Given the description of an element on the screen output the (x, y) to click on. 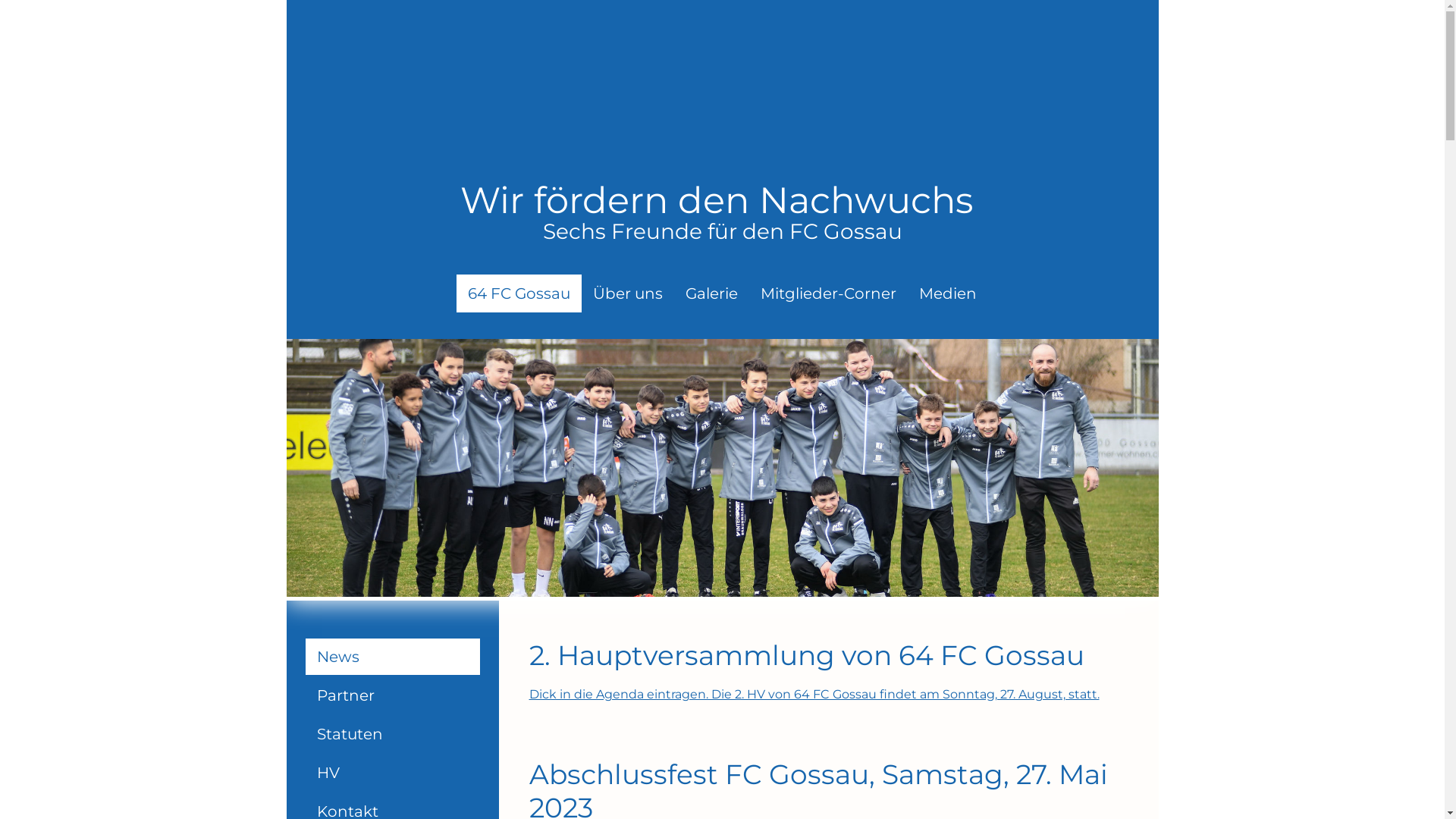
64 FC Gossau Element type: text (518, 293)
News Element type: text (391, 656)
Medien Element type: text (947, 293)
Mitglieder-Corner Element type: text (828, 293)
Partner Element type: text (391, 695)
Statuten Element type: text (391, 733)
Galerie Element type: text (711, 293)
HV Element type: text (391, 772)
